Given the description of an element on the screen output the (x, y) to click on. 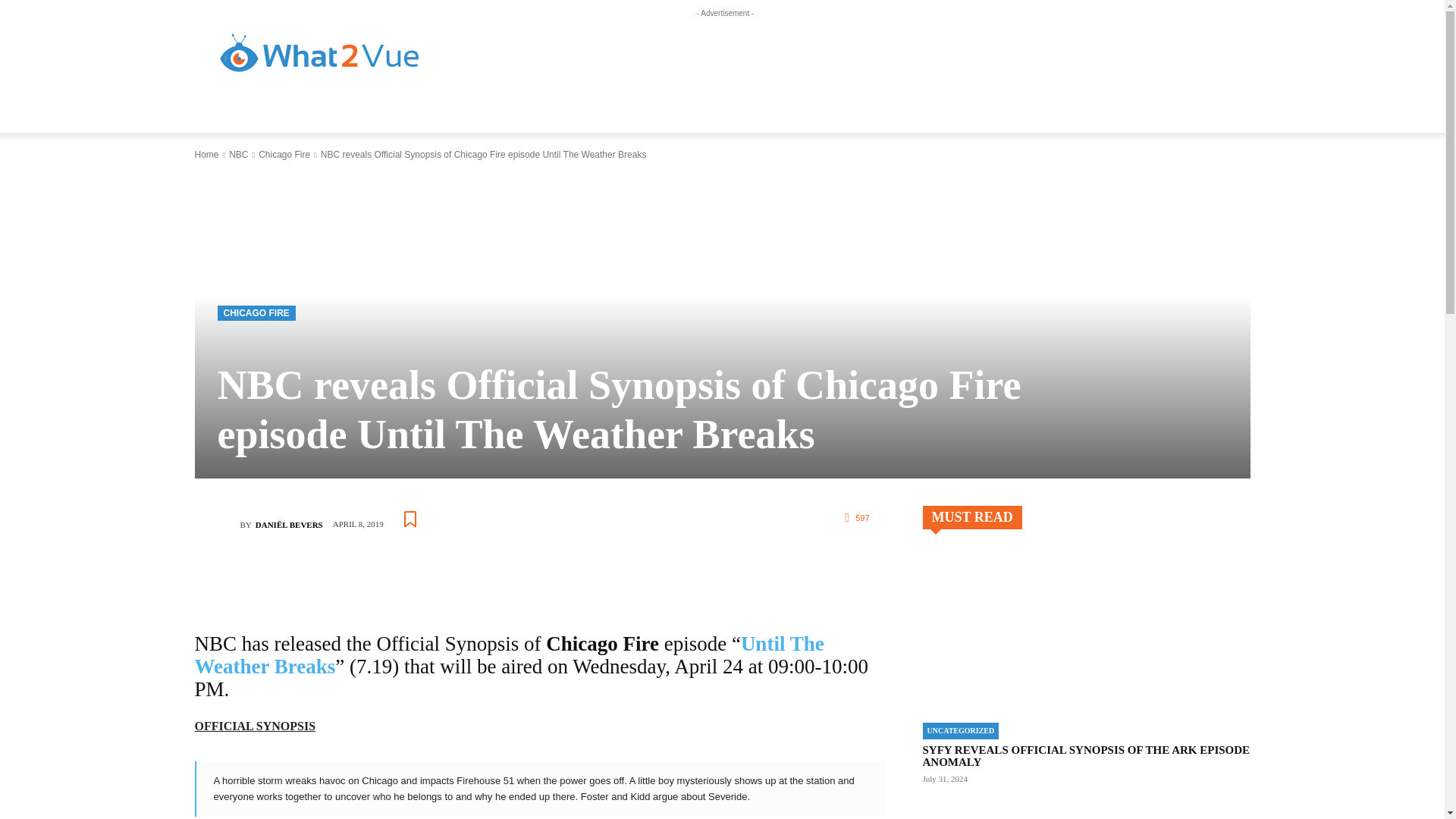
What 2 Vue (319, 55)
